Given the description of an element on the screen output the (x, y) to click on. 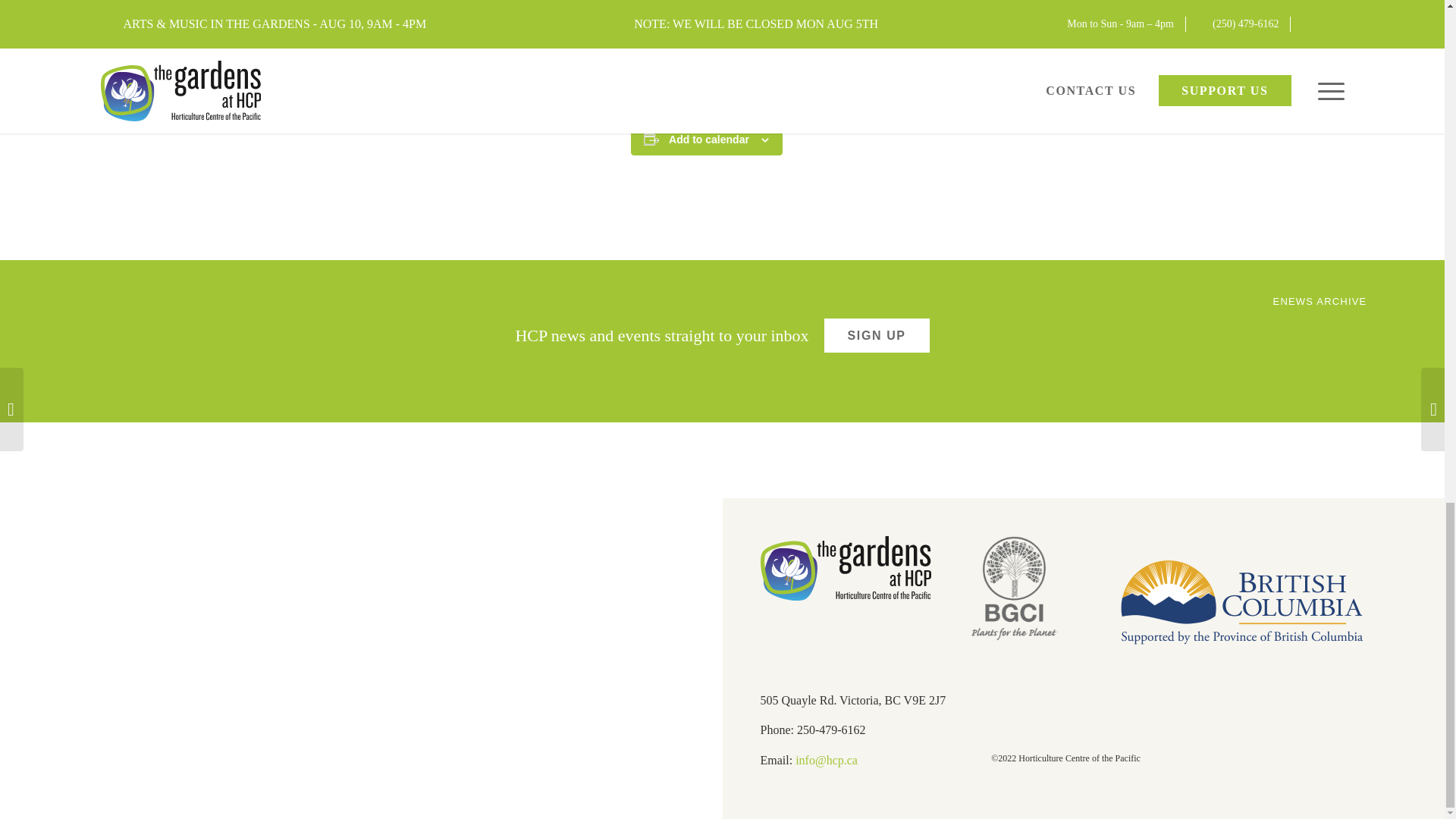
logo (845, 568)
BC Landscape Resized BL (1241, 604)
